Given the description of an element on the screen output the (x, y) to click on. 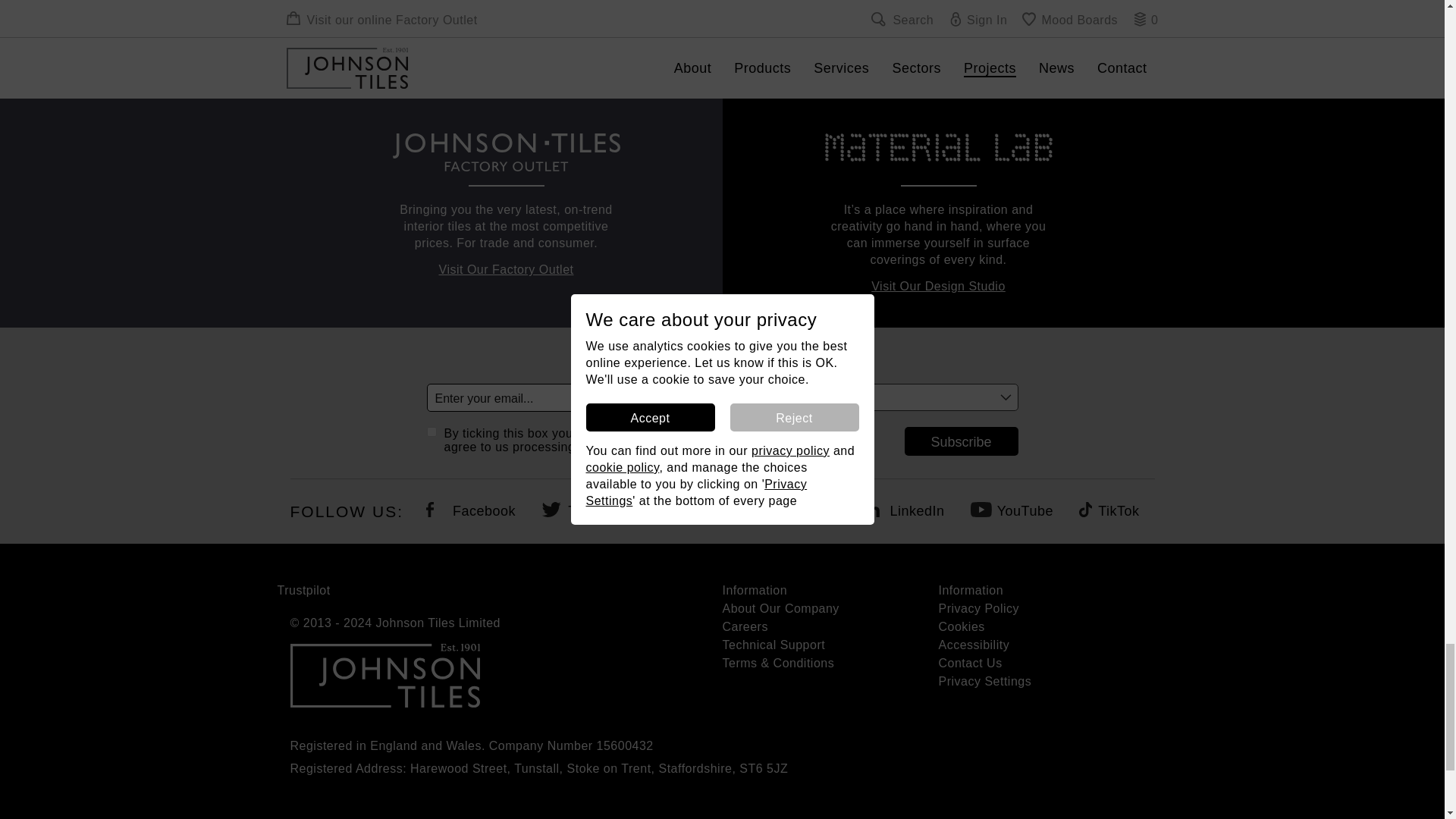
on (430, 431)
